Given the description of an element on the screen output the (x, y) to click on. 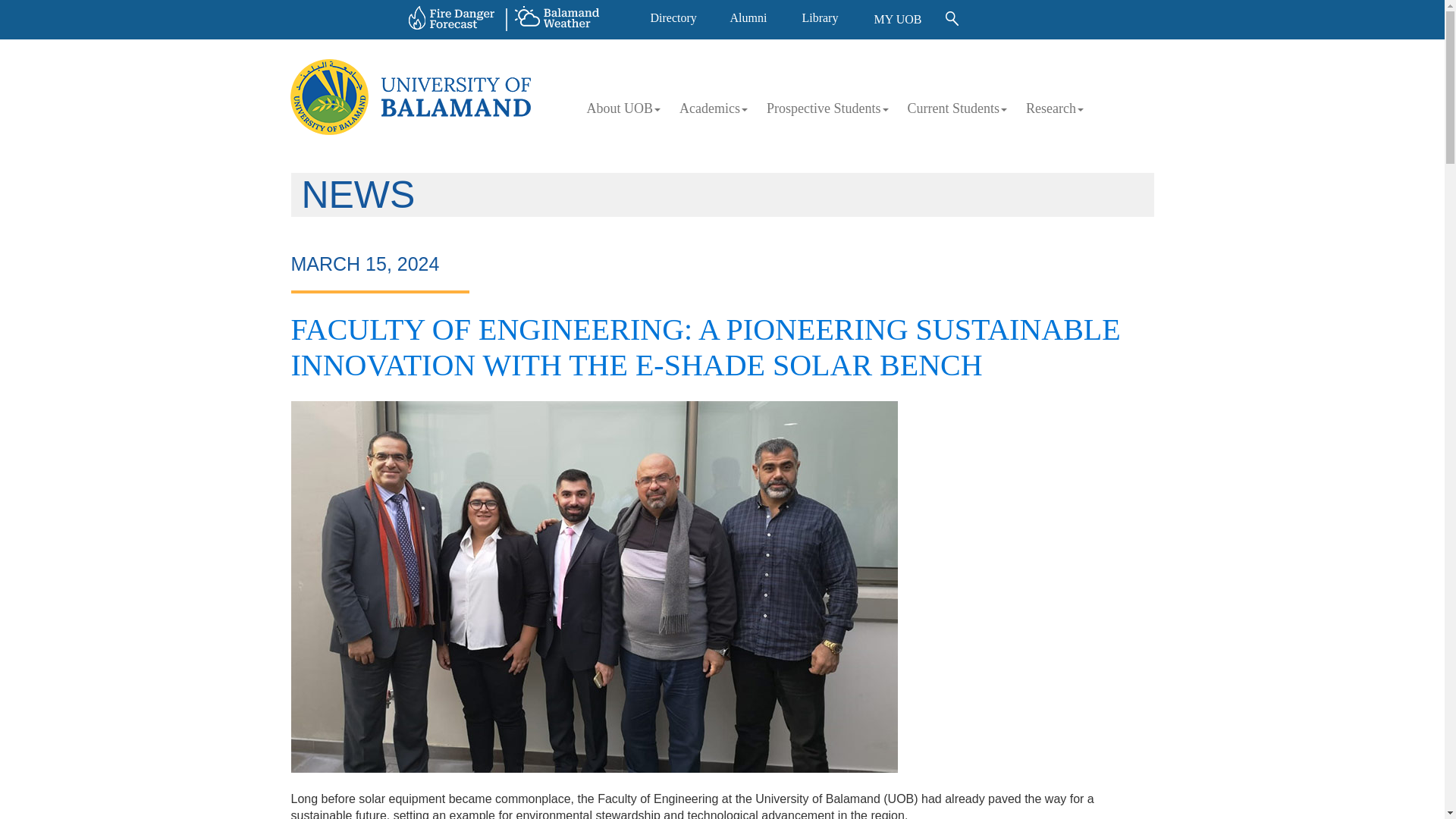
Alumni (748, 17)
Directory (672, 17)
About UOB (625, 108)
Library (820, 17)
MY UOB (897, 19)
